Given the description of an element on the screen output the (x, y) to click on. 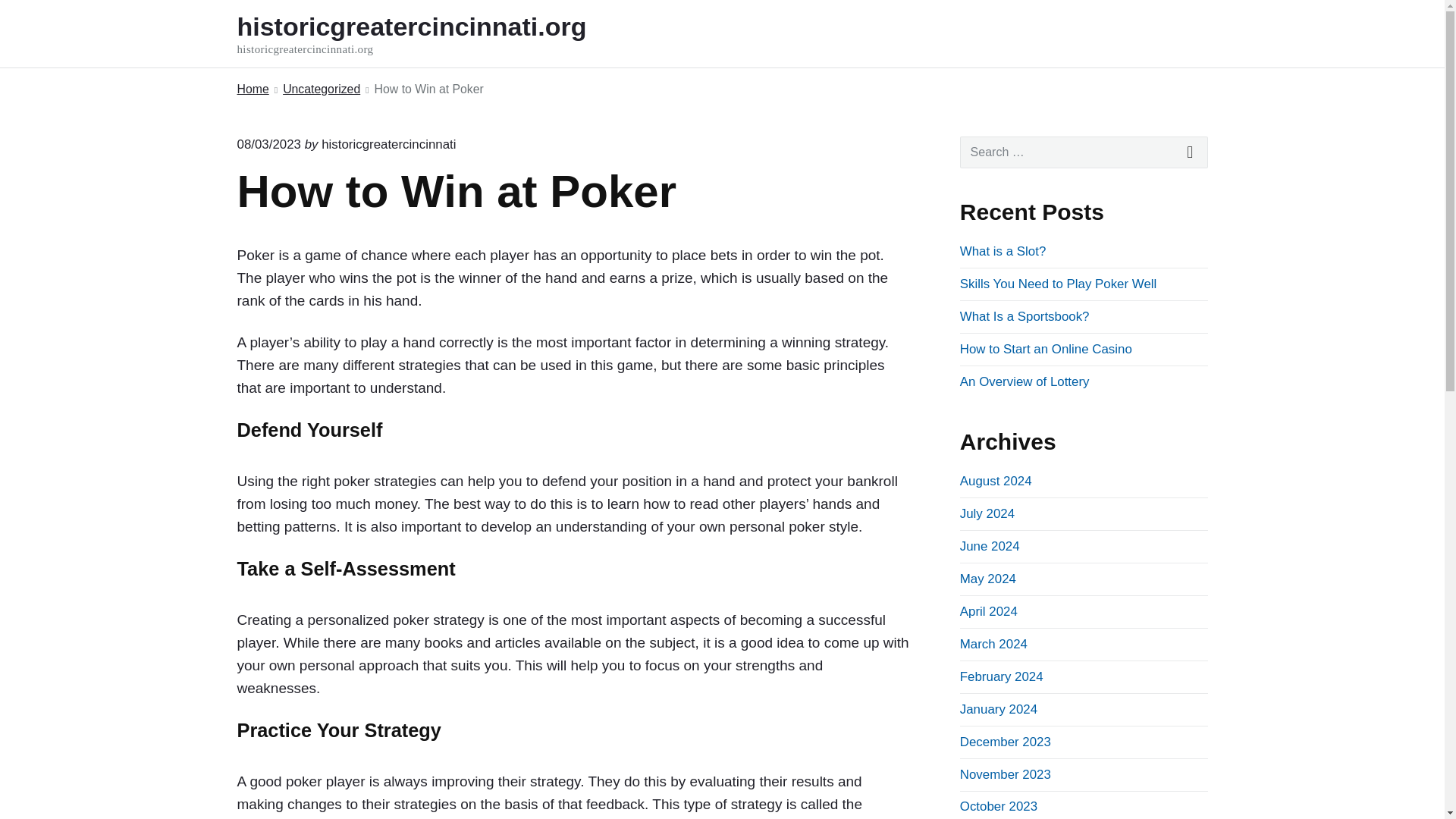
October 2023 (997, 806)
What is a Slot? (1002, 251)
SEARCH (1190, 152)
July 2024 (986, 513)
January 2024 (997, 708)
An Overview of Lottery (1024, 381)
March 2024 (993, 644)
Wednesday, March 8, 2023, 9:33 pm (267, 144)
Home (251, 89)
November 2023 (1005, 774)
